Given the description of an element on the screen output the (x, y) to click on. 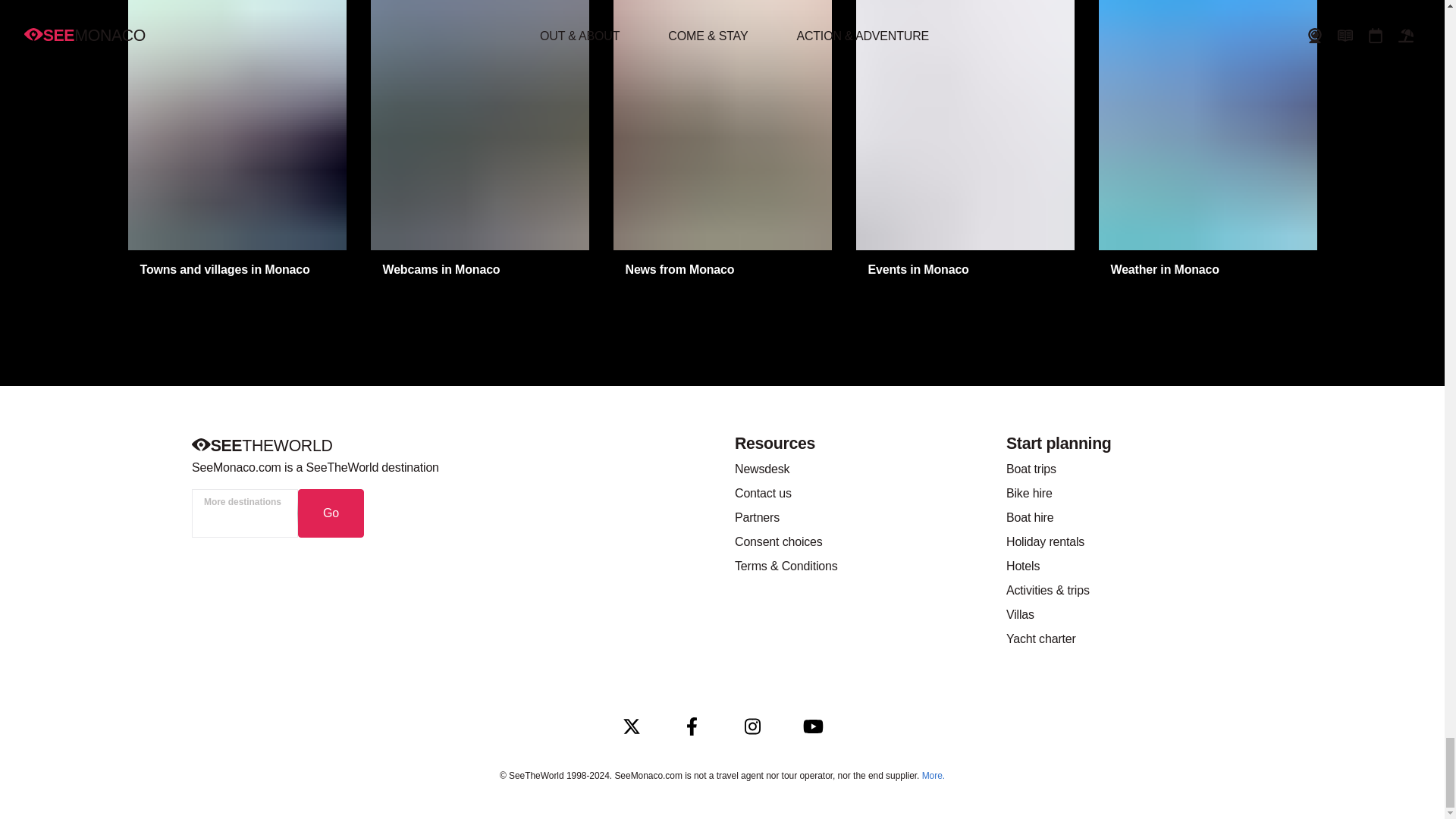
Follow SeeMonaco.com on Facebook (691, 726)
Follow SeeMonaco.com on Instagram (751, 726)
Follow SeeMonaco.com on X (630, 726)
SeeTheWorld.com (260, 446)
Follow SeeMonaco.com on YouTube (812, 726)
